Given the description of an element on the screen output the (x, y) to click on. 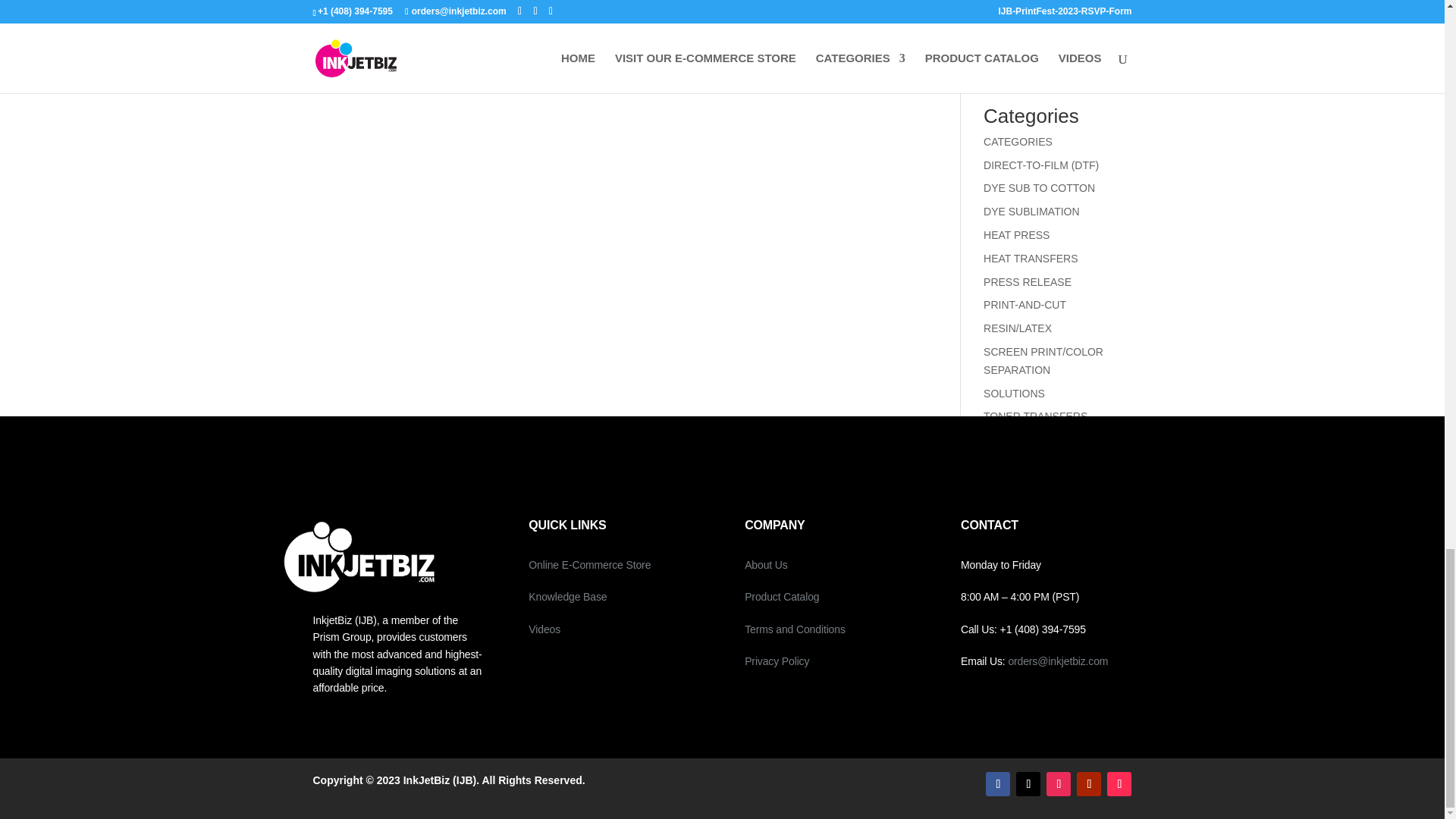
Follow on Youtube (1088, 784)
Follow on TikTok (1118, 784)
Follow on Facebook (997, 784)
Follow on Instagram (1058, 784)
Follow on X (1028, 784)
